Given the description of an element on the screen output the (x, y) to click on. 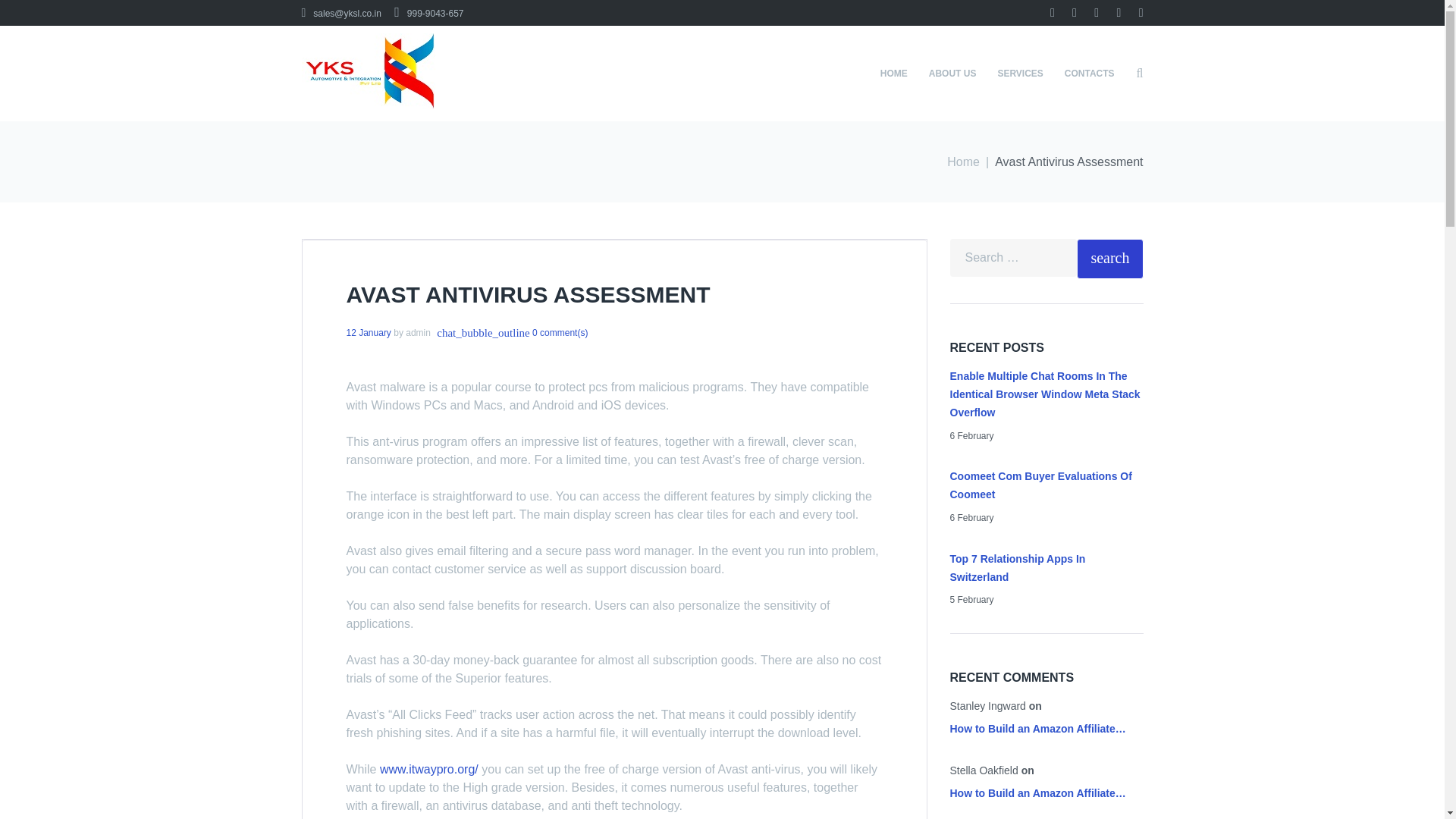
12 January (368, 332)
SERVICES (1019, 73)
Home (963, 161)
search (1109, 259)
ABOUT US (952, 73)
Search for: (1013, 257)
999-9043-657 (428, 13)
Coomeet Com Buyer Evaluations Of Coomeet (1040, 485)
admin (418, 332)
Top 7 Relationship Apps In Switzerland (1016, 567)
CONTACTS (1089, 73)
Home (963, 161)
